Given the description of an element on the screen output the (x, y) to click on. 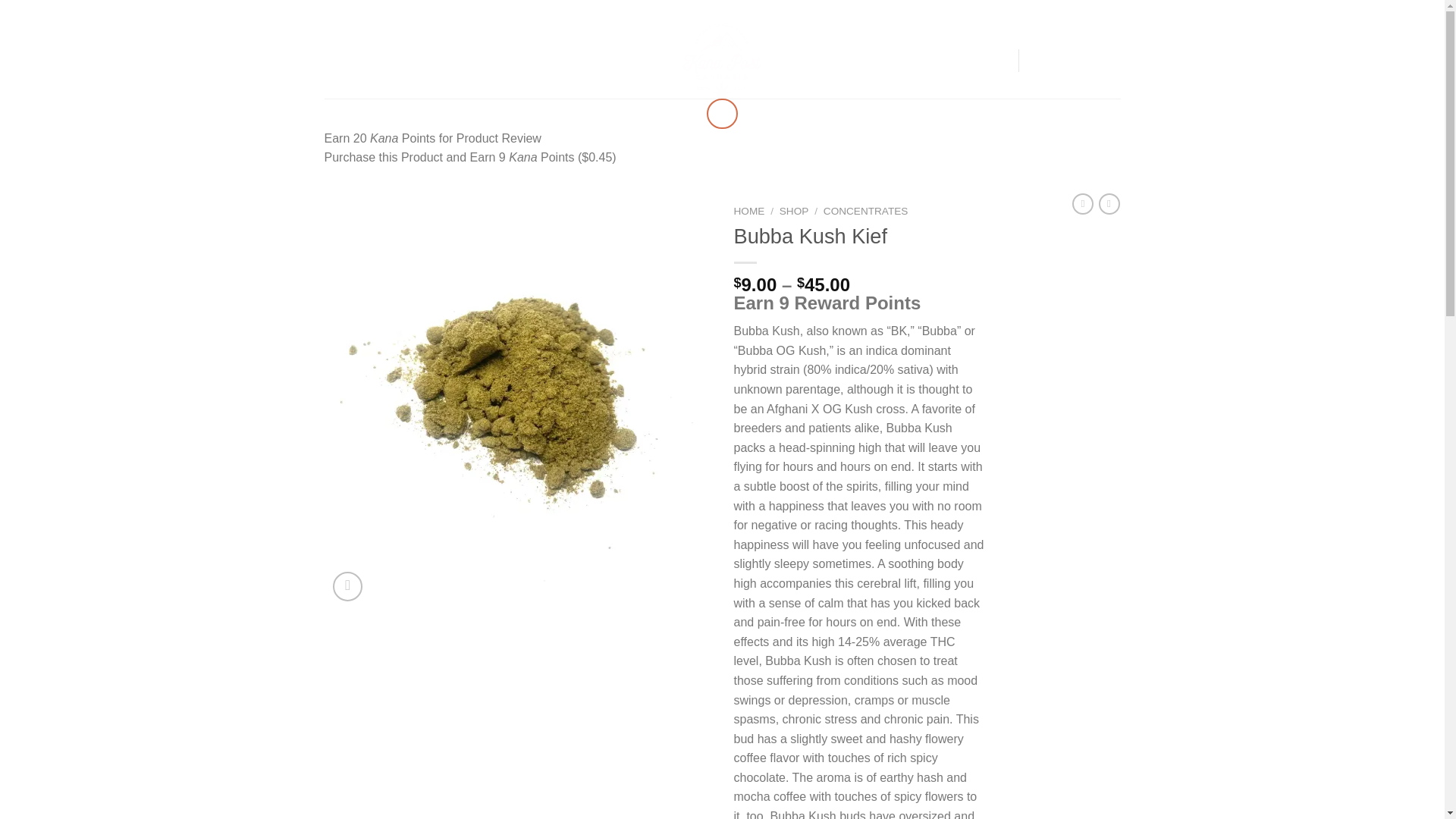
HOME (360, 60)
SHOP (404, 60)
Edibles (966, 11)
Flower (844, 11)
Accessories (1093, 11)
Cart (1074, 61)
Therapeutic (1025, 11)
Zoom (347, 586)
Concentrates (905, 11)
